Given the description of an element on the screen output the (x, y) to click on. 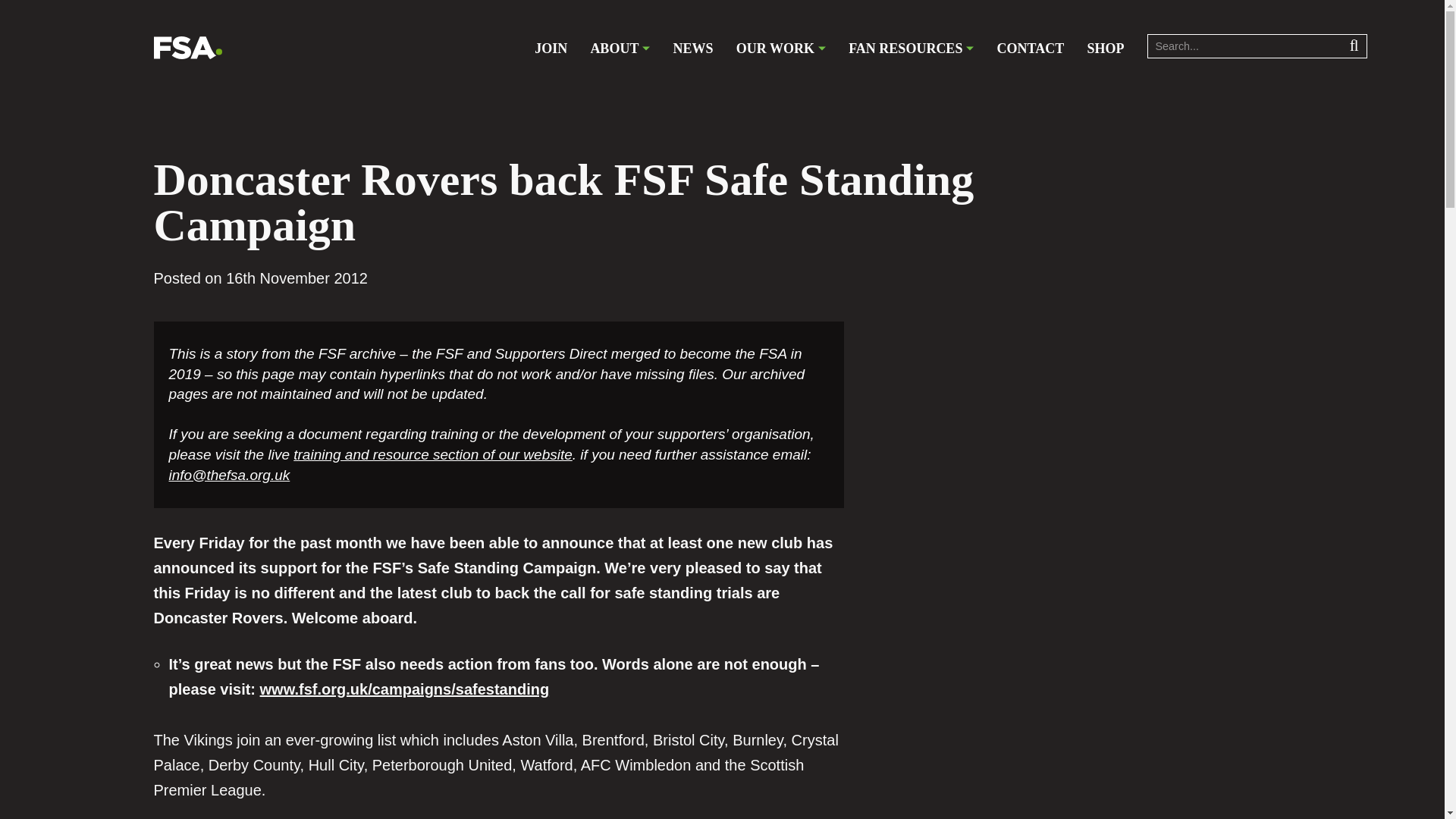
NEWS (692, 48)
JOIN (550, 48)
OUR WORK (780, 48)
ABOUT (619, 48)
